Given the description of an element on the screen output the (x, y) to click on. 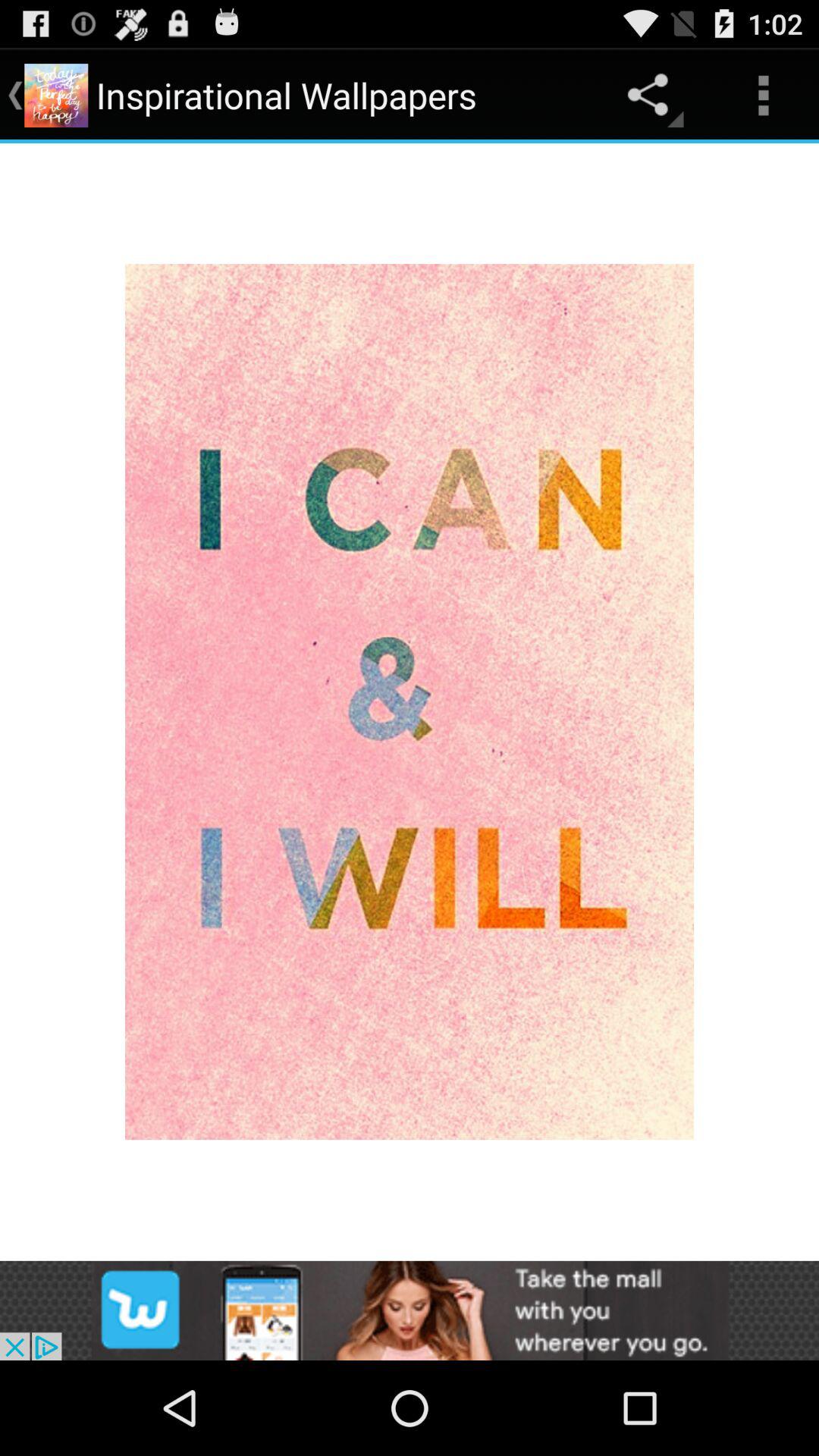
so the advertisement (409, 1310)
